Given the description of an element on the screen output the (x, y) to click on. 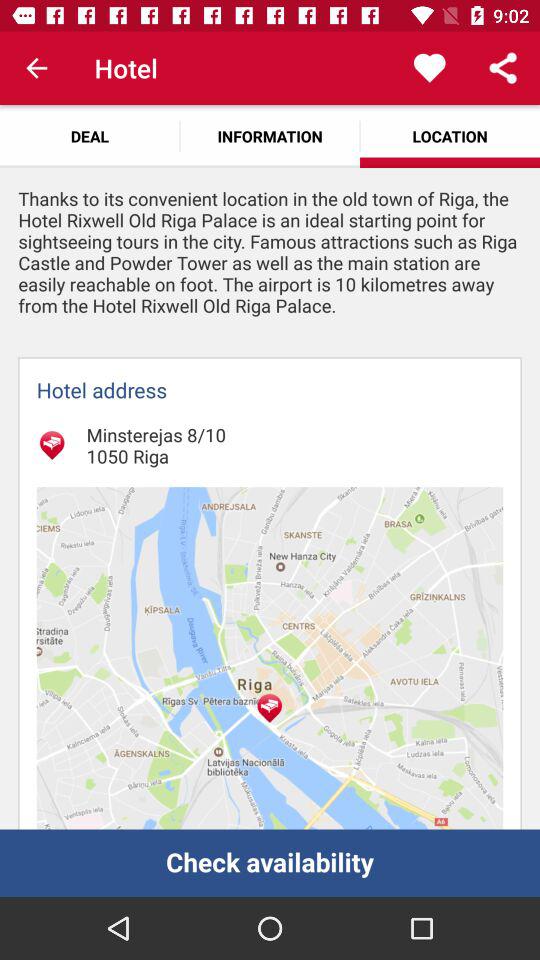
open item to the left of hotel item (36, 68)
